Given the description of an element on the screen output the (x, y) to click on. 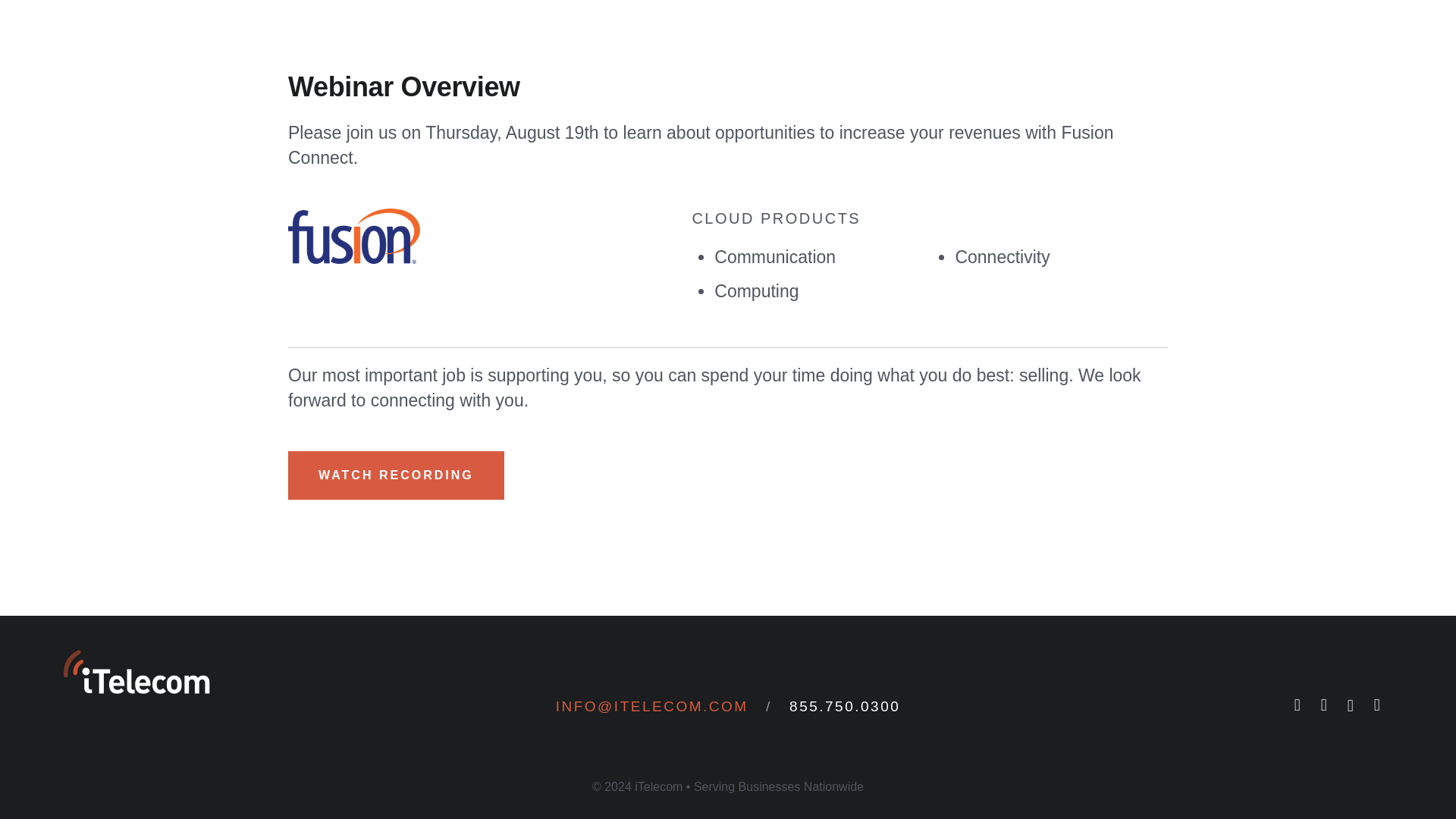
WATCH RECORDING (395, 475)
855.750.0300 (844, 706)
